Given the description of an element on the screen output the (x, y) to click on. 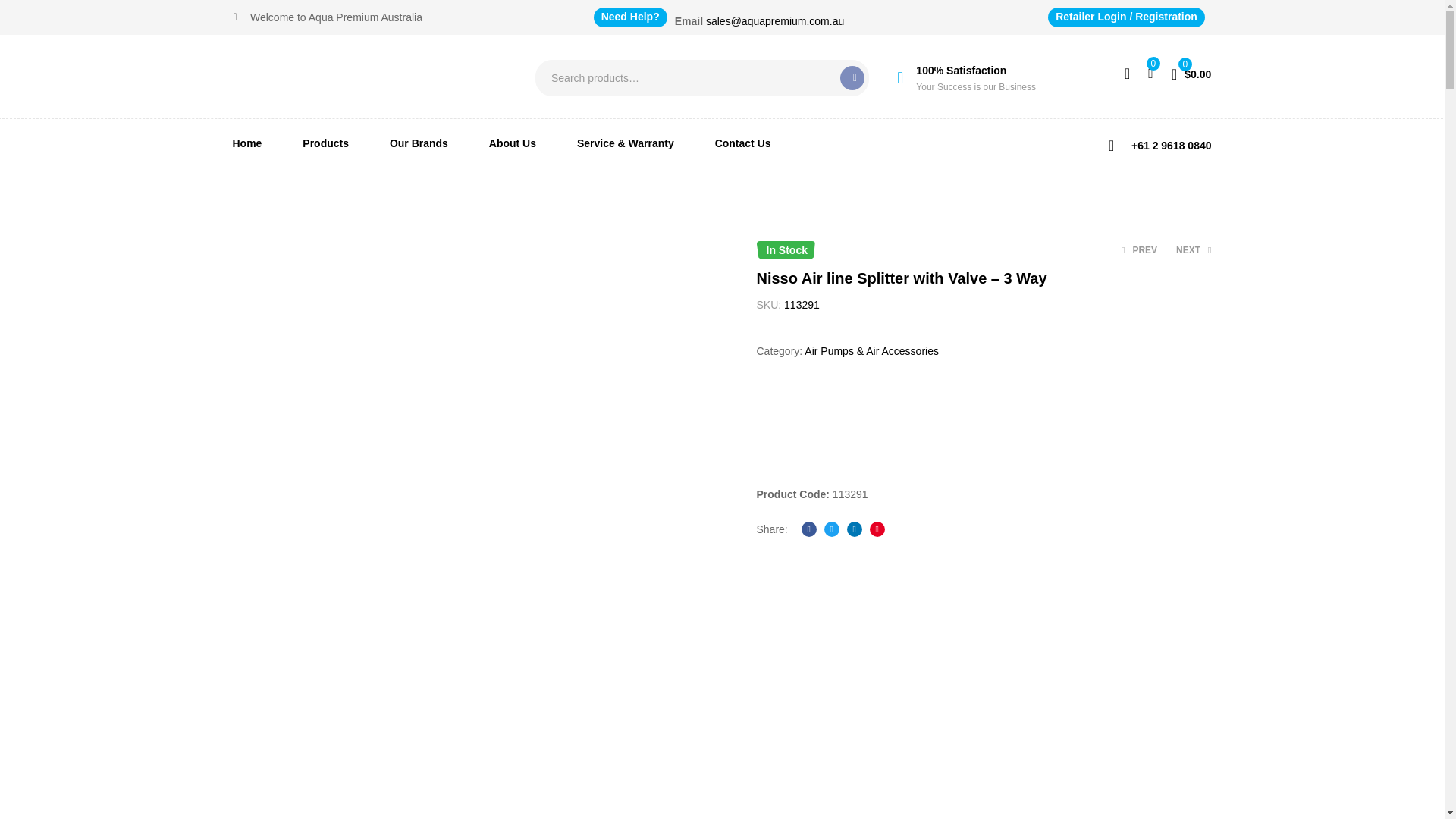
Share on Pinterest (877, 529)
Share on facebook (809, 529)
Welcome to Aqua Premium Australia (327, 17)
Share on LinkedIn (854, 529)
Need Help? (630, 17)
Nisso (813, 428)
Search (852, 78)
View your shopping cart (1191, 72)
Share on Twitter (832, 529)
